Given the description of an element on the screen output the (x, y) to click on. 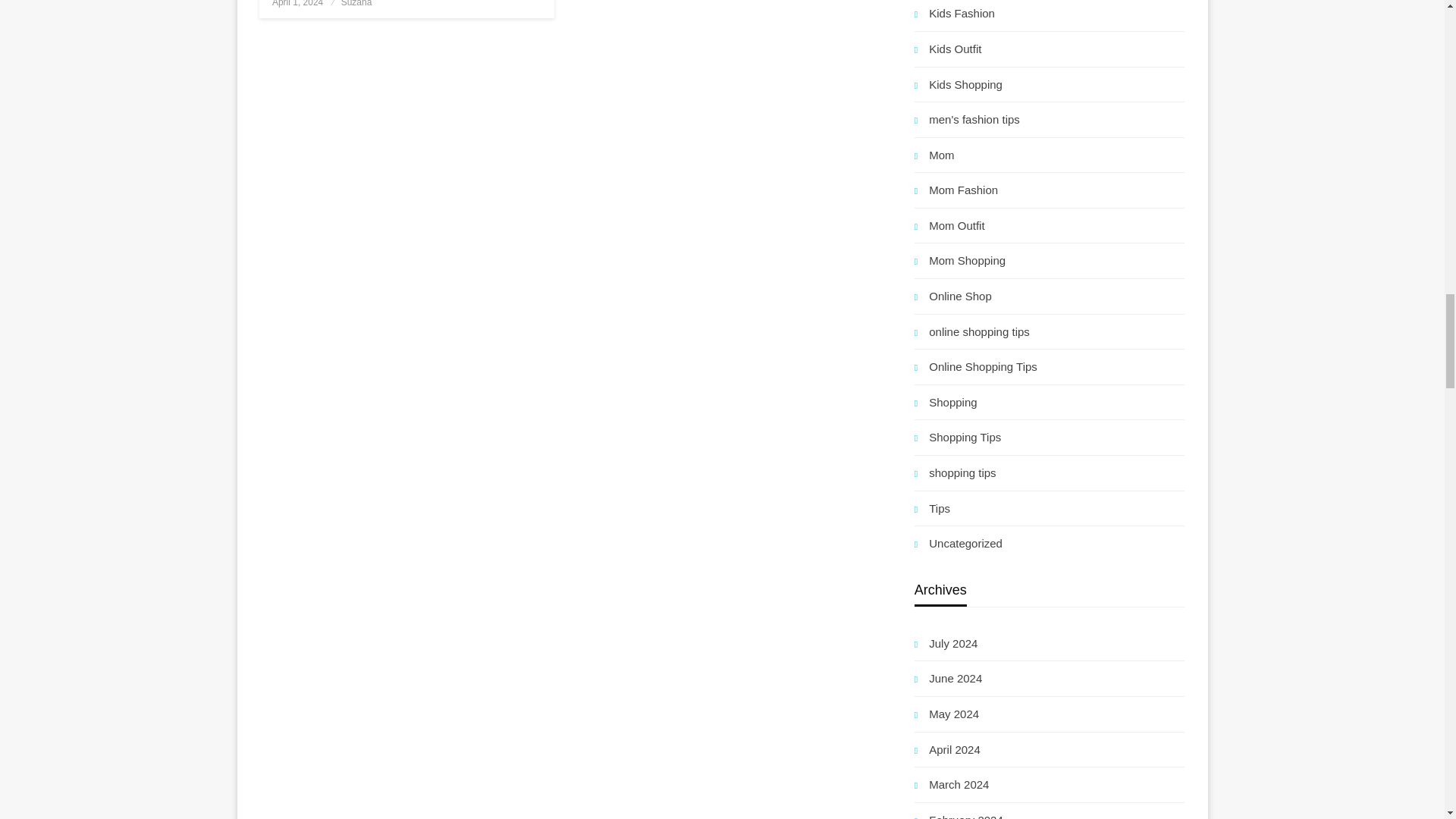
Suzana (356, 3)
Suzana (356, 3)
April 1, 2024 (297, 3)
